Given the description of an element on the screen output the (x, y) to click on. 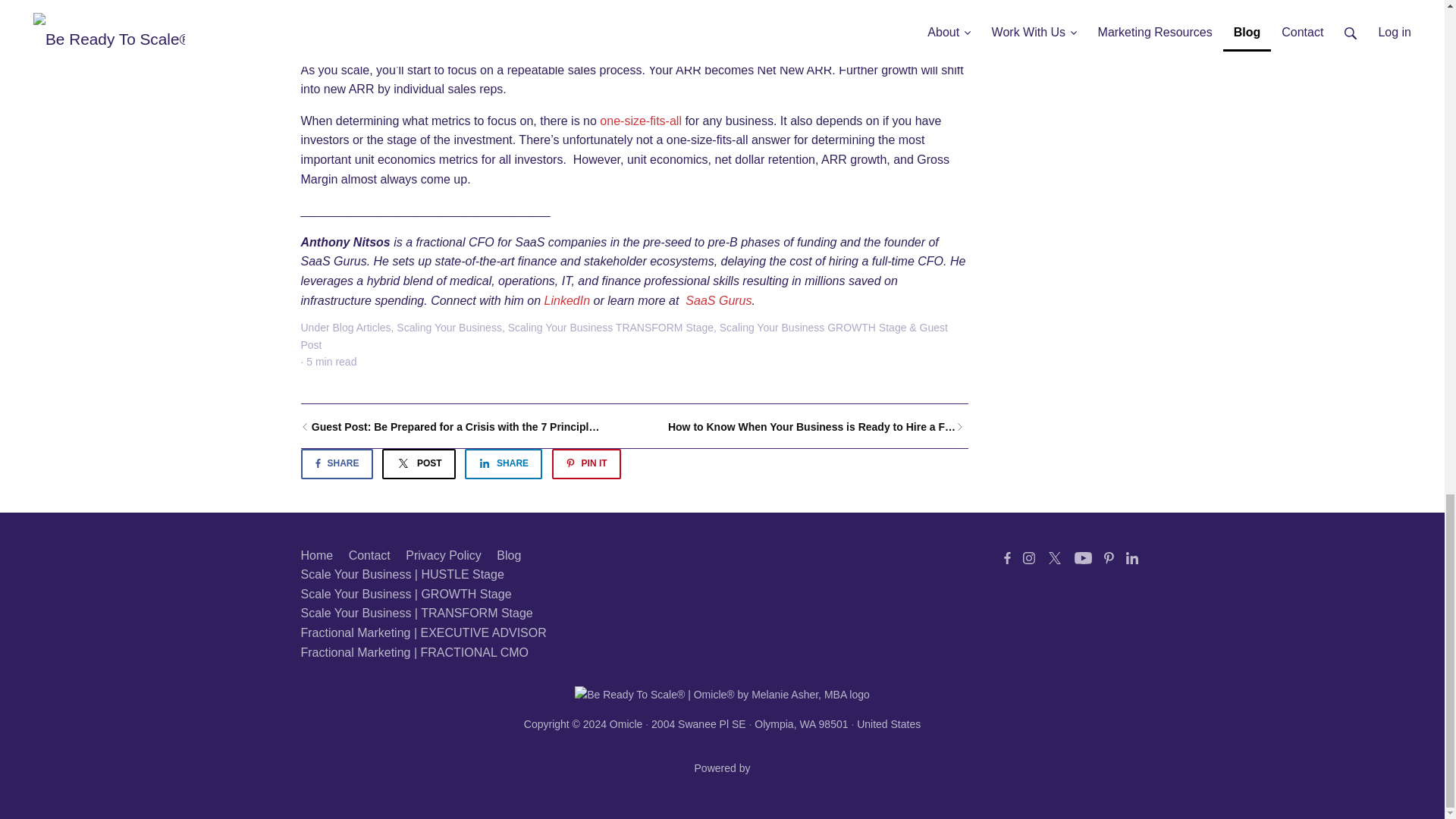
Blog Articles (362, 327)
Scaling Your Business TRANSFORM Stage (610, 327)
Guest Post (623, 335)
Scaling Your Business GROWTH Stage (813, 327)
Share on LinkedIn (502, 463)
Scaling Your Business (449, 327)
LinkedIn (1130, 558)
PIN IT (586, 463)
Share on Facebook (335, 463)
YouTube (1082, 558)
